Given the description of an element on the screen output the (x, y) to click on. 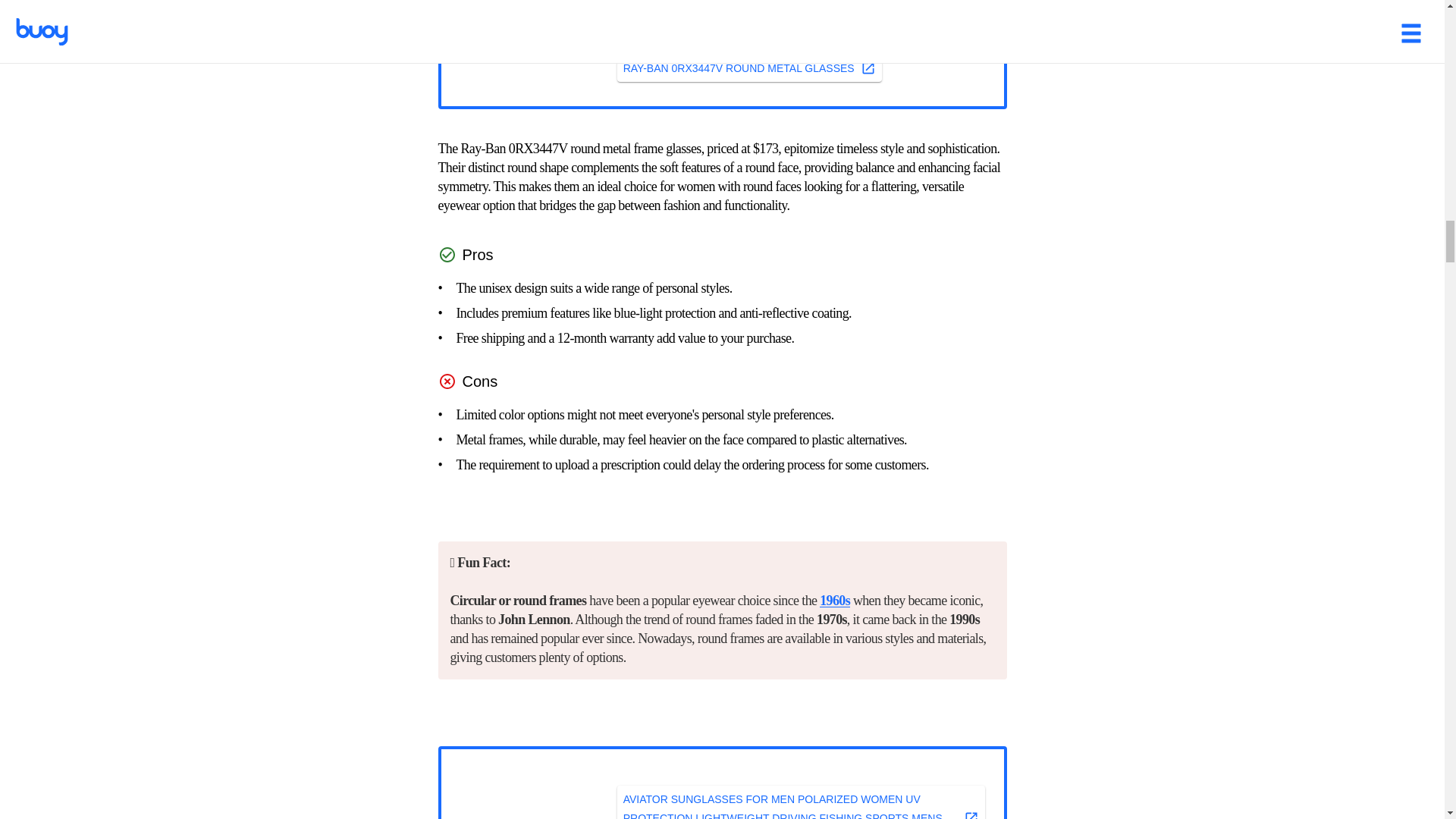
RAY-BAN 0RX3447V ROUND METAL GLASSES (749, 68)
1960s (834, 600)
